Given the description of an element on the screen output the (x, y) to click on. 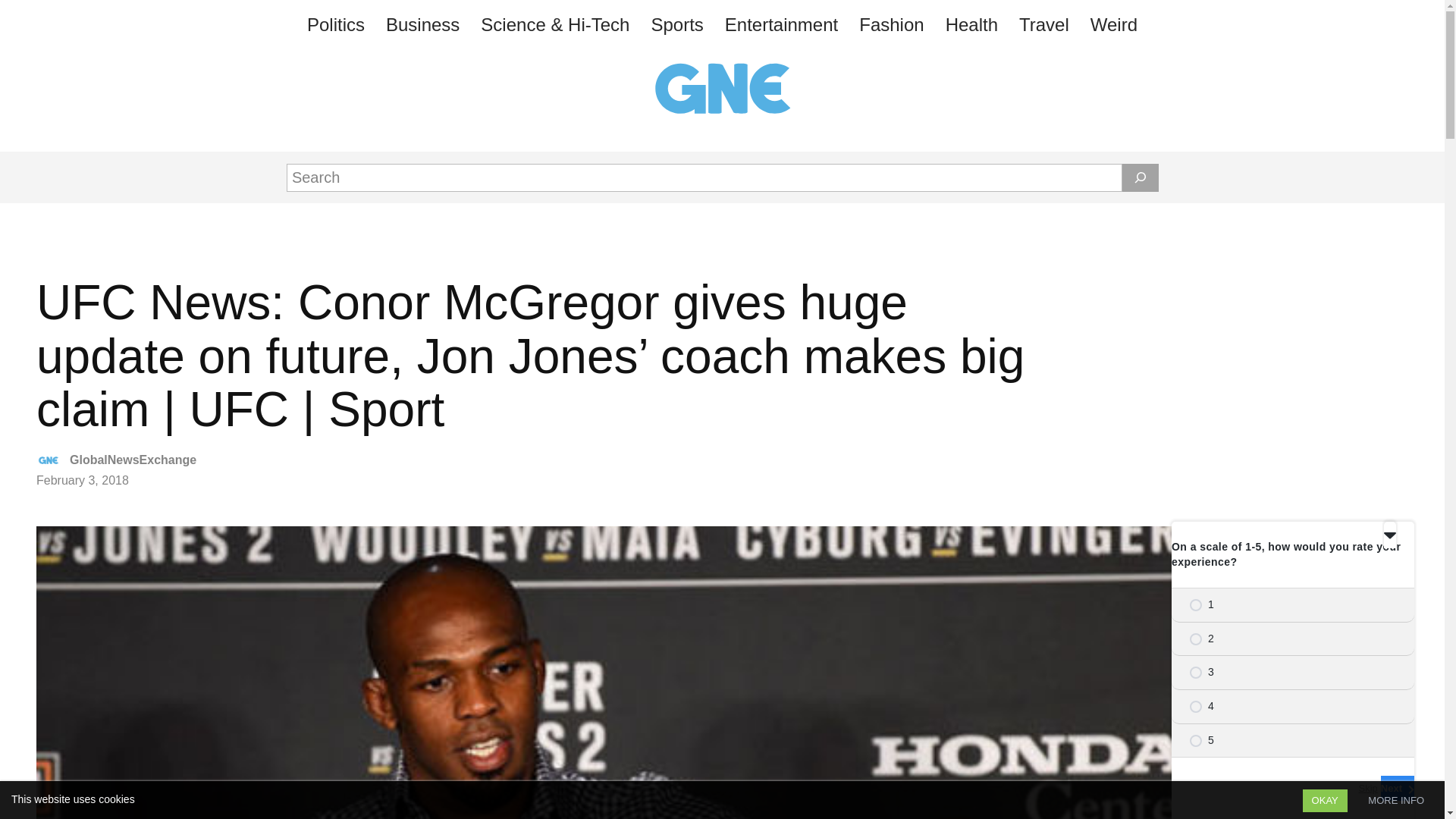
Travel (1044, 24)
Health (971, 24)
Politics (336, 24)
Weird (1113, 24)
Sports (677, 24)
Business (422, 24)
Fashion (891, 24)
Entertainment (781, 24)
